Given the description of an element on the screen output the (x, y) to click on. 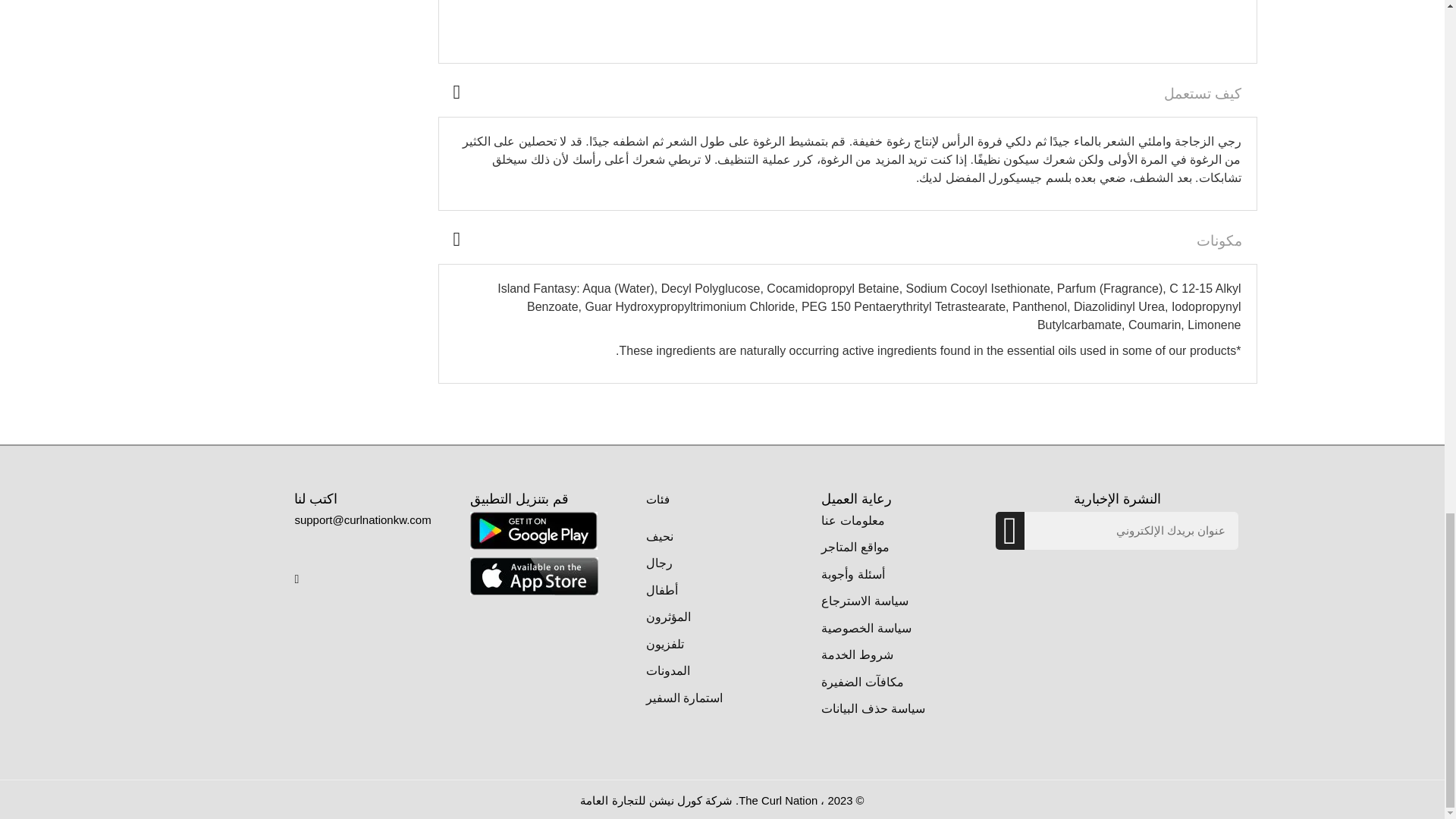
Curl Nation (534, 574)
Curl nation (533, 529)
